Given the description of an element on the screen output the (x, y) to click on. 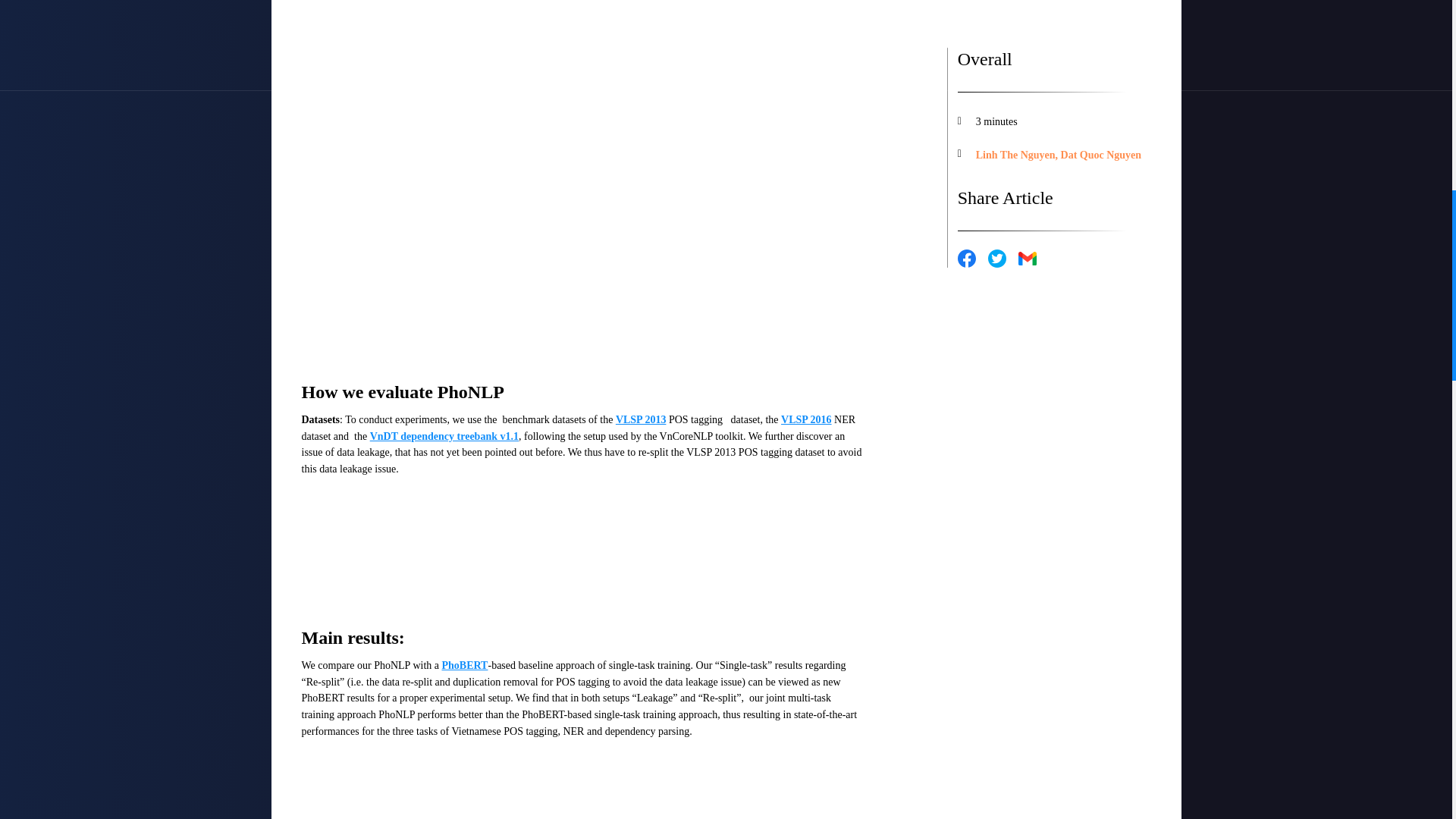
PhoBERT (464, 665)
VnDT dependency treebank v1.1 (443, 436)
VLSP 2016 (805, 419)
VLSP 2013 (640, 419)
